Given the description of an element on the screen output the (x, y) to click on. 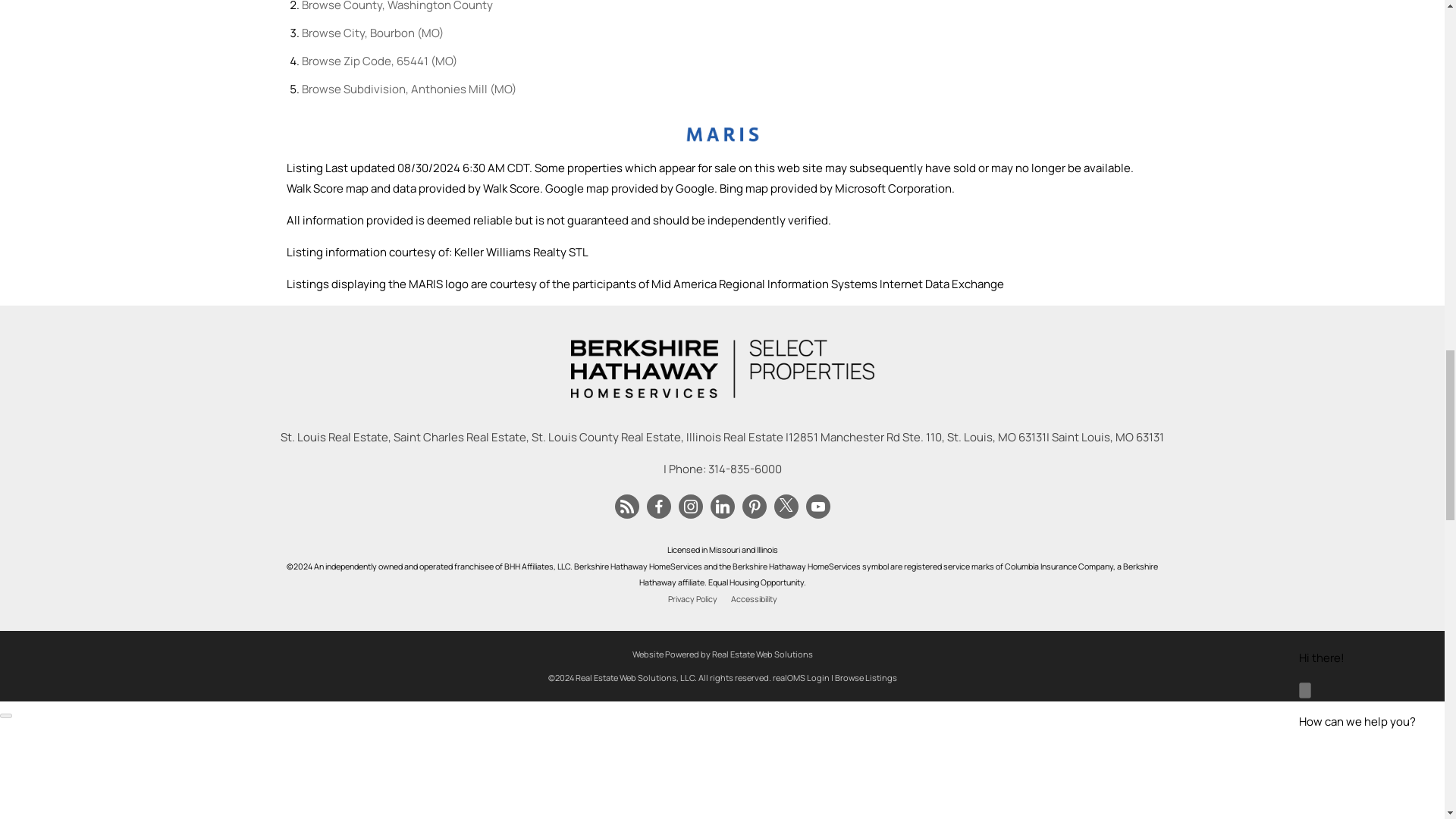
Visit us on LinkedIn (722, 506)
Visit us on Instagram (690, 506)
Visit us on Facebook (658, 506)
Visit us on Pinterest (754, 506)
Visit us on YouTube (817, 506)
Visit us on Blog (626, 506)
